Given the description of an element on the screen output the (x, y) to click on. 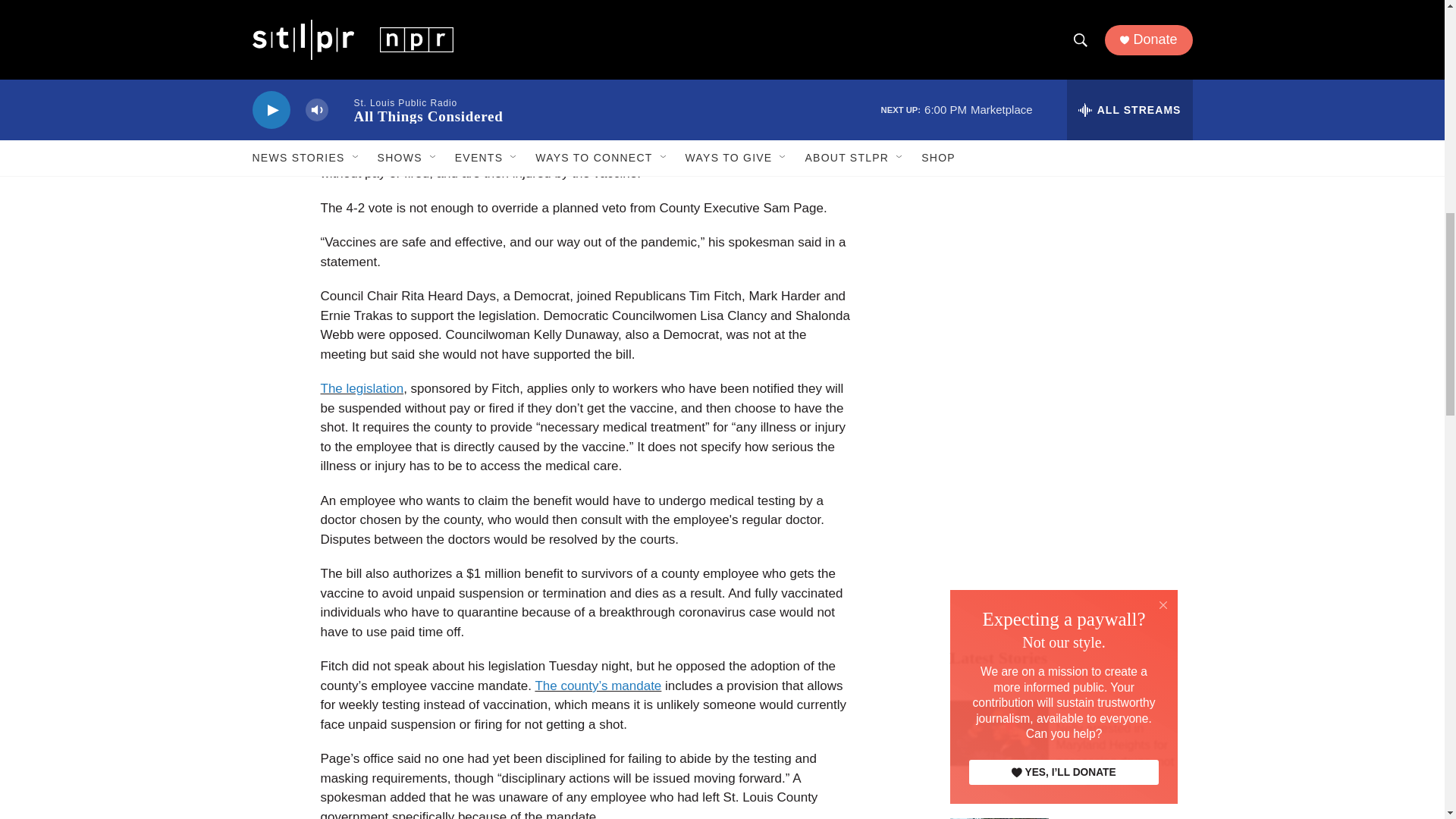
3rd party ad content (1062, 31)
